Given the description of an element on the screen output the (x, y) to click on. 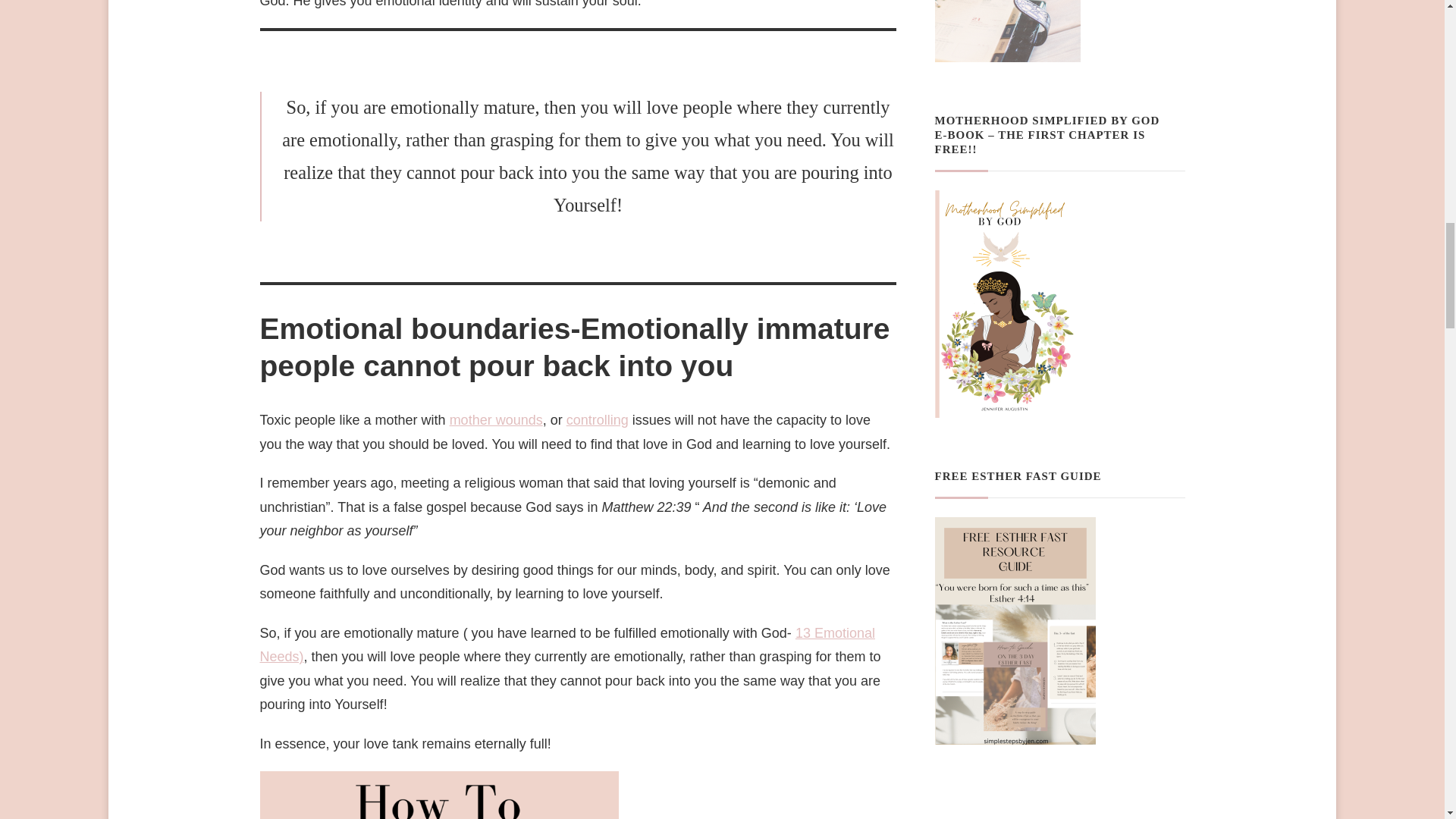
How To Heal The Mother Wound In 8 Ways (496, 419)
Are You a Controlling Mother? How To Recognize Toxic Signs (597, 419)
